Given the description of an element on the screen output the (x, y) to click on. 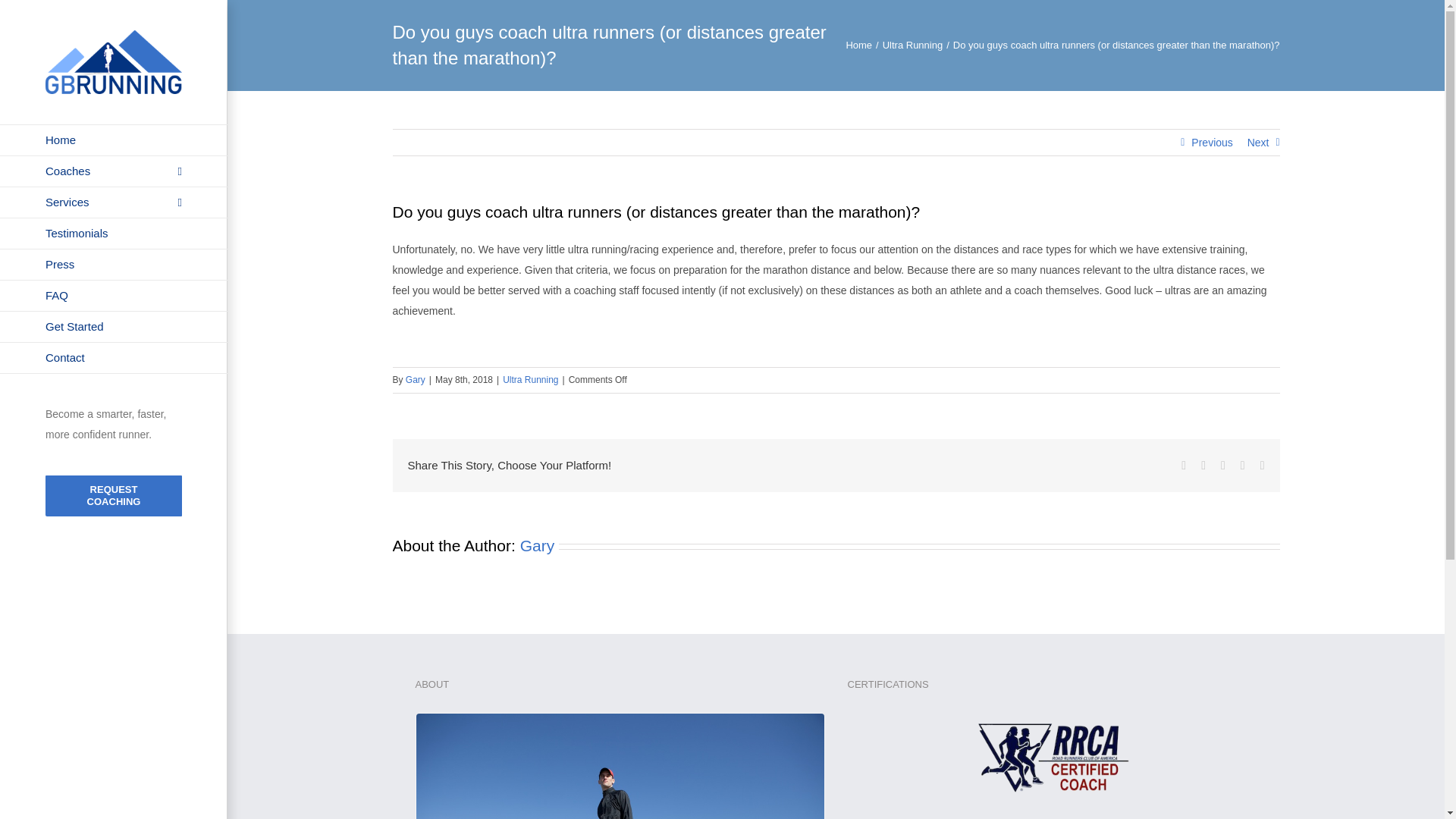
FAQ (113, 296)
Home (113, 140)
Testimonials (113, 233)
Press (113, 264)
Previous (1211, 142)
Services (113, 202)
Posts by Gary (536, 545)
Get Started (113, 327)
REQUEST COACHING (113, 495)
Gary (536, 545)
Ultra Running (912, 44)
Contact (113, 358)
Home (858, 44)
Coaches (113, 171)
Gary (415, 379)
